Given the description of an element on the screen output the (x, y) to click on. 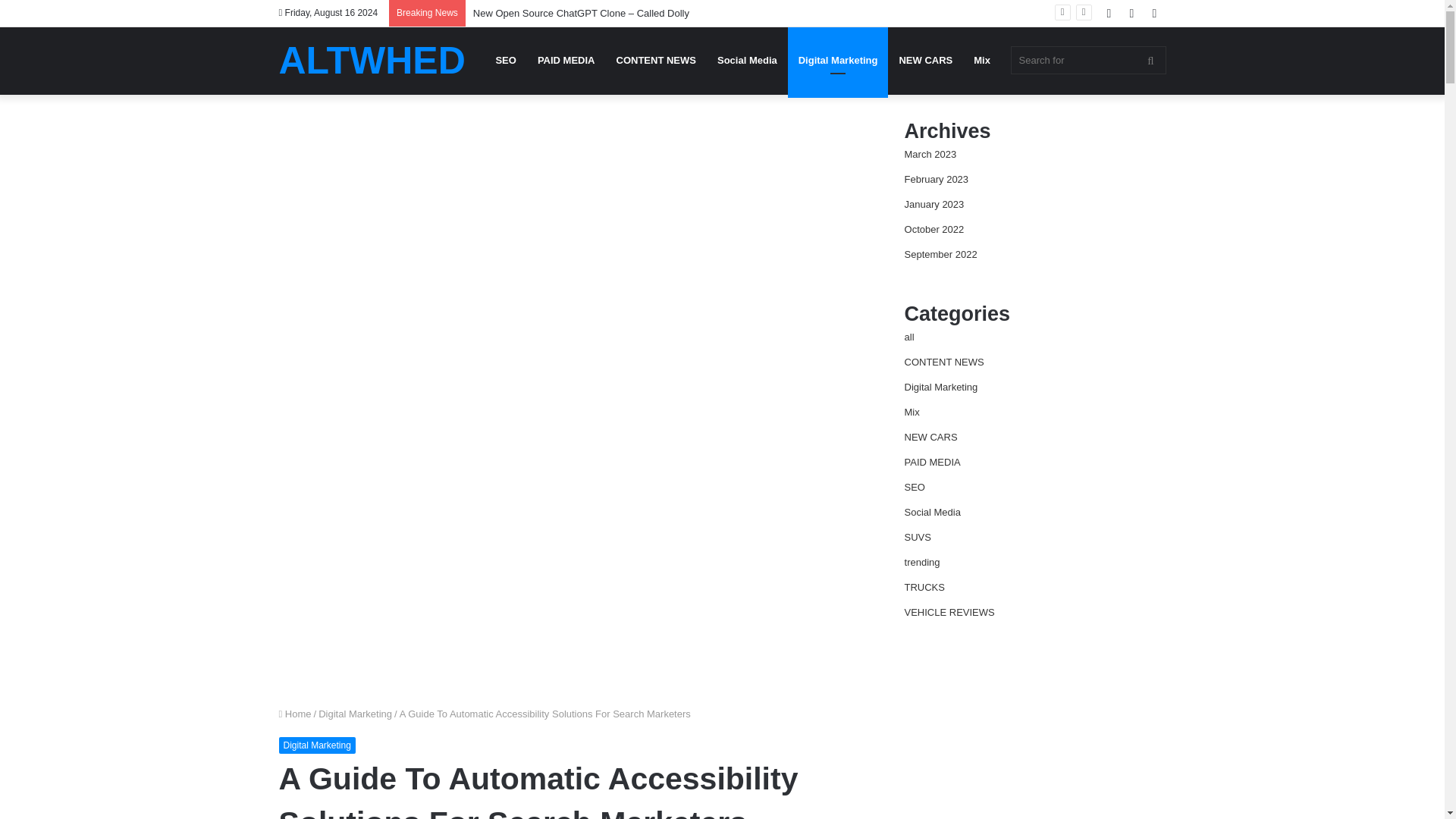
Digital Marketing (317, 745)
NEW CARS (925, 60)
Digital Marketing (837, 60)
PAID MEDIA (566, 60)
ALTWHED (372, 60)
Home (295, 713)
ALTWHED (372, 60)
CONTENT NEWS (655, 60)
Social Media (746, 60)
Search for (1088, 59)
